Given the description of an element on the screen output the (x, y) to click on. 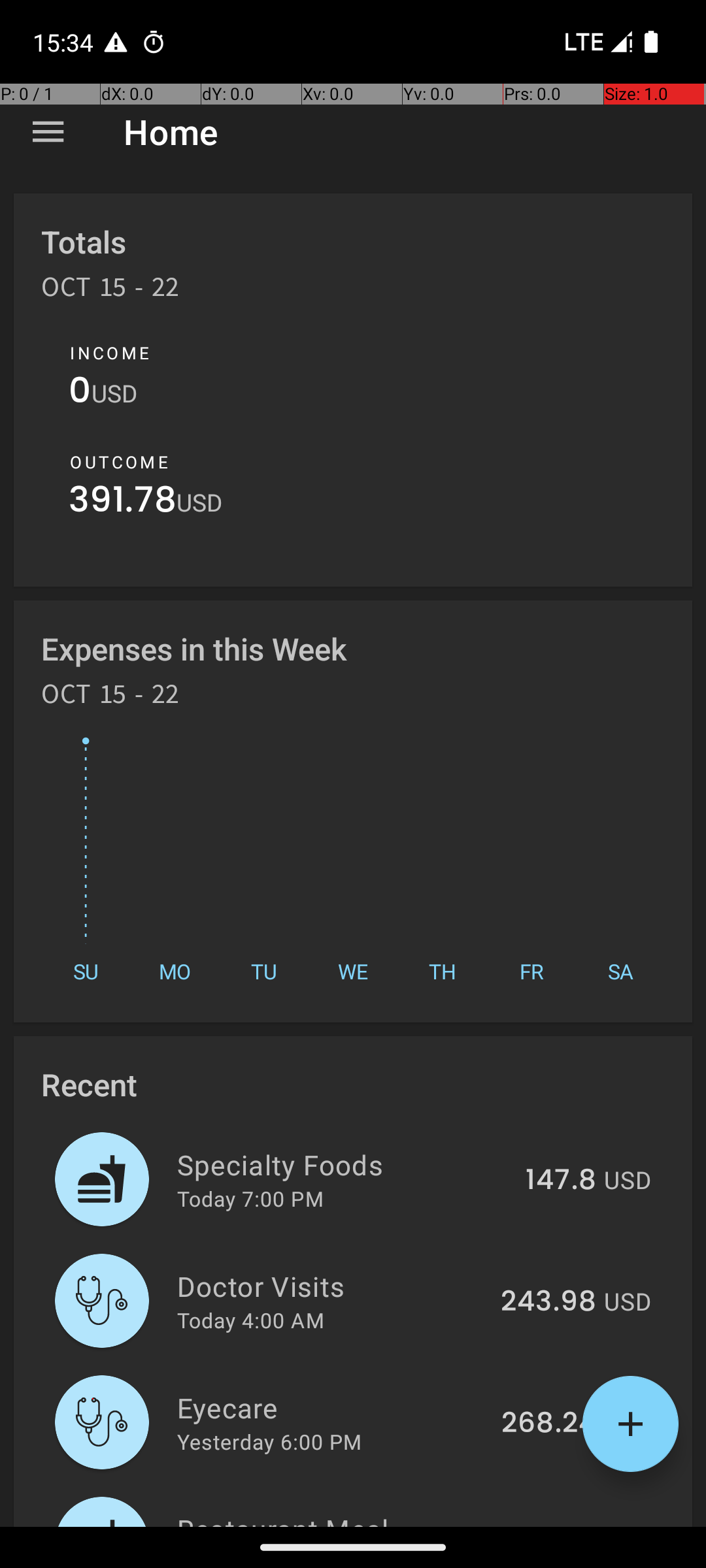
391.78 Element type: android.widget.TextView (122, 502)
Specialty Foods Element type: android.widget.TextView (343, 1164)
Today 7:00 PM Element type: android.widget.TextView (250, 1198)
147.8 Element type: android.widget.TextView (560, 1180)
Doctor Visits Element type: android.widget.TextView (331, 1285)
Today 4:00 AM Element type: android.widget.TextView (250, 1320)
243.98 Element type: android.widget.TextView (548, 1301)
Eyecare Element type: android.widget.TextView (331, 1407)
Yesterday 6:00 PM Element type: android.widget.TextView (269, 1441)
268.24 Element type: android.widget.TextView (548, 1423)
Restaurant Meal Element type: android.widget.TextView (331, 1518)
208.79 Element type: android.widget.TextView (548, 1524)
